Given the description of an element on the screen output the (x, y) to click on. 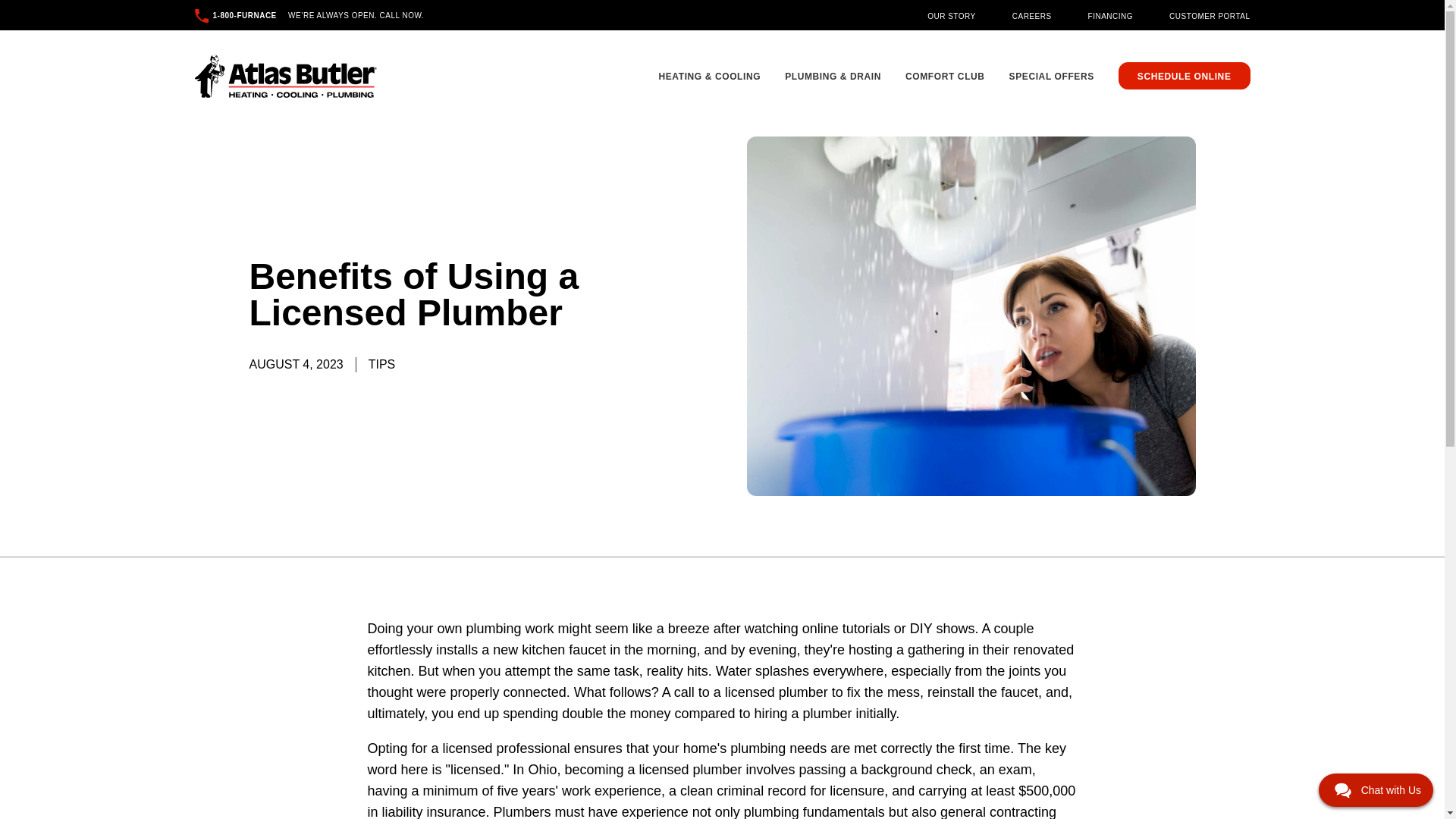
Atlas Butler (284, 75)
OUR STORY (951, 14)
CUSTOMER PORTAL (1209, 14)
1-800-FURNACE (234, 15)
FINANCING (1110, 14)
CAREERS (1031, 14)
